Given the description of an element on the screen output the (x, y) to click on. 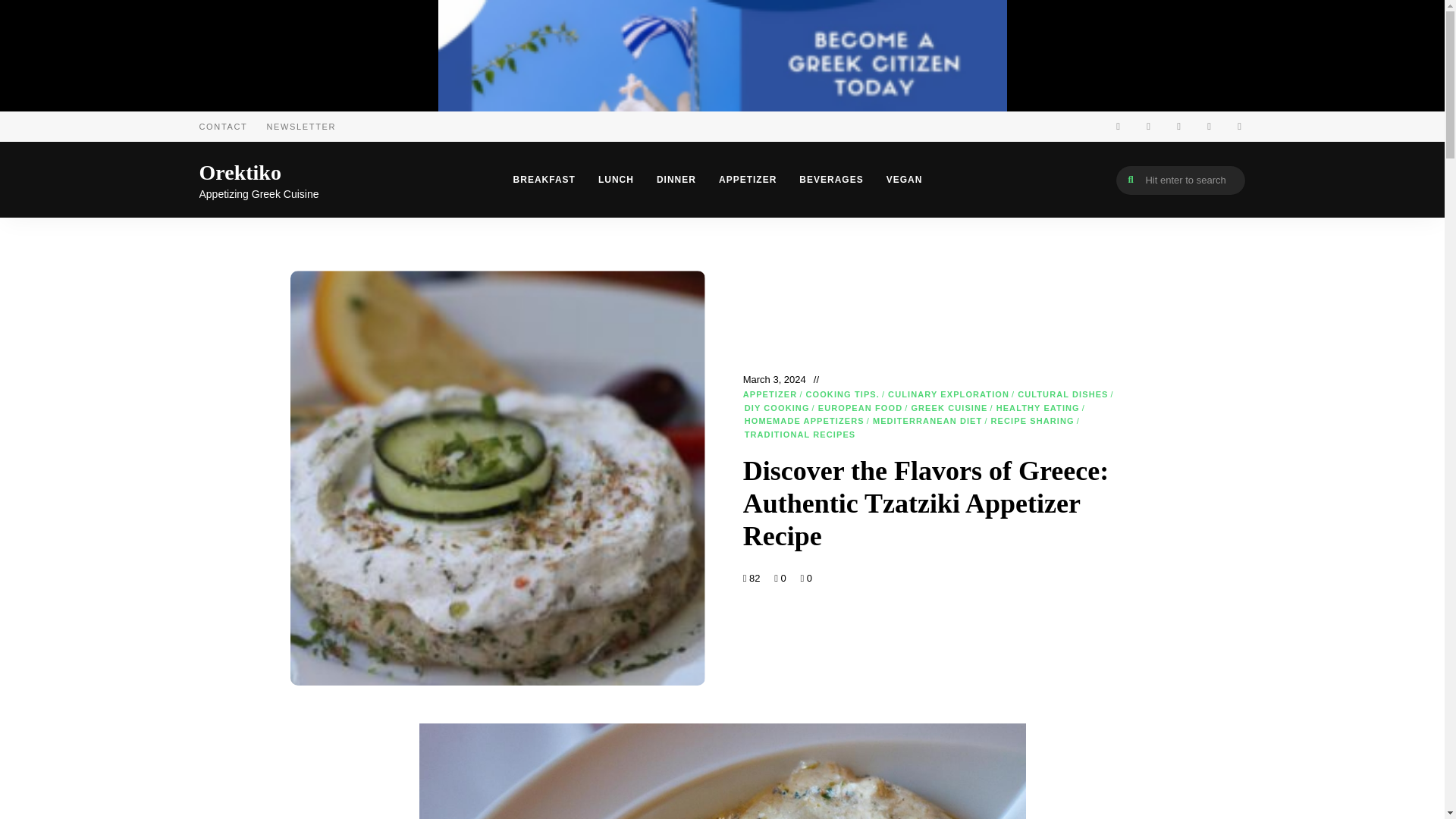
TRADITIONAL RECIPES (800, 435)
CONTACT (222, 126)
youtube (1238, 126)
RECIPE SHARING (1032, 421)
GREEK CUISINE (949, 408)
NEWSLETTER (301, 126)
facebook (1117, 126)
APPETIZER (769, 395)
0 (805, 577)
DIY COOKING (776, 408)
